Given the description of an element on the screen output the (x, y) to click on. 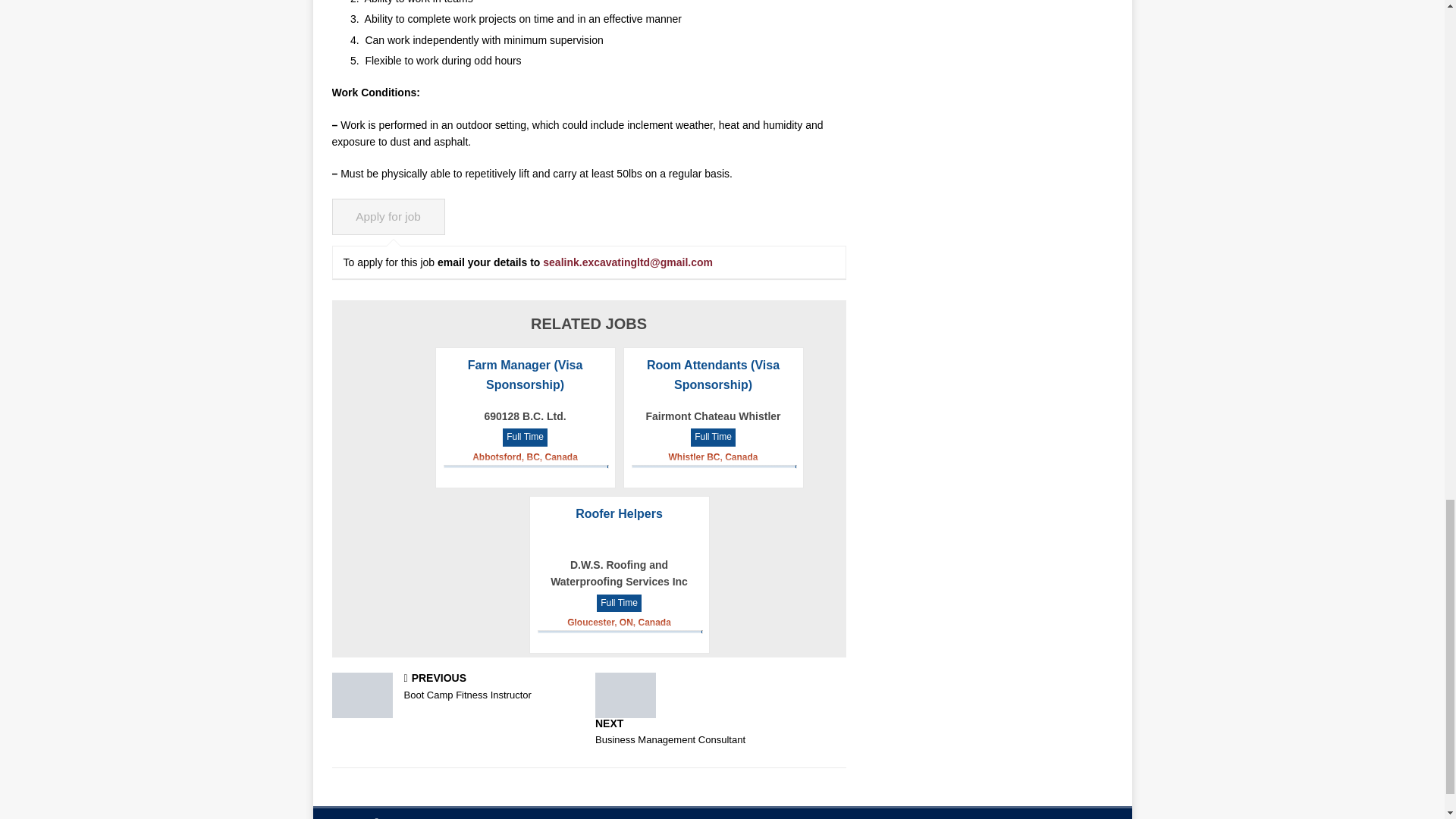
Roofer Helpers (457, 687)
Apply for job (618, 513)
